Given the description of an element on the screen output the (x, y) to click on. 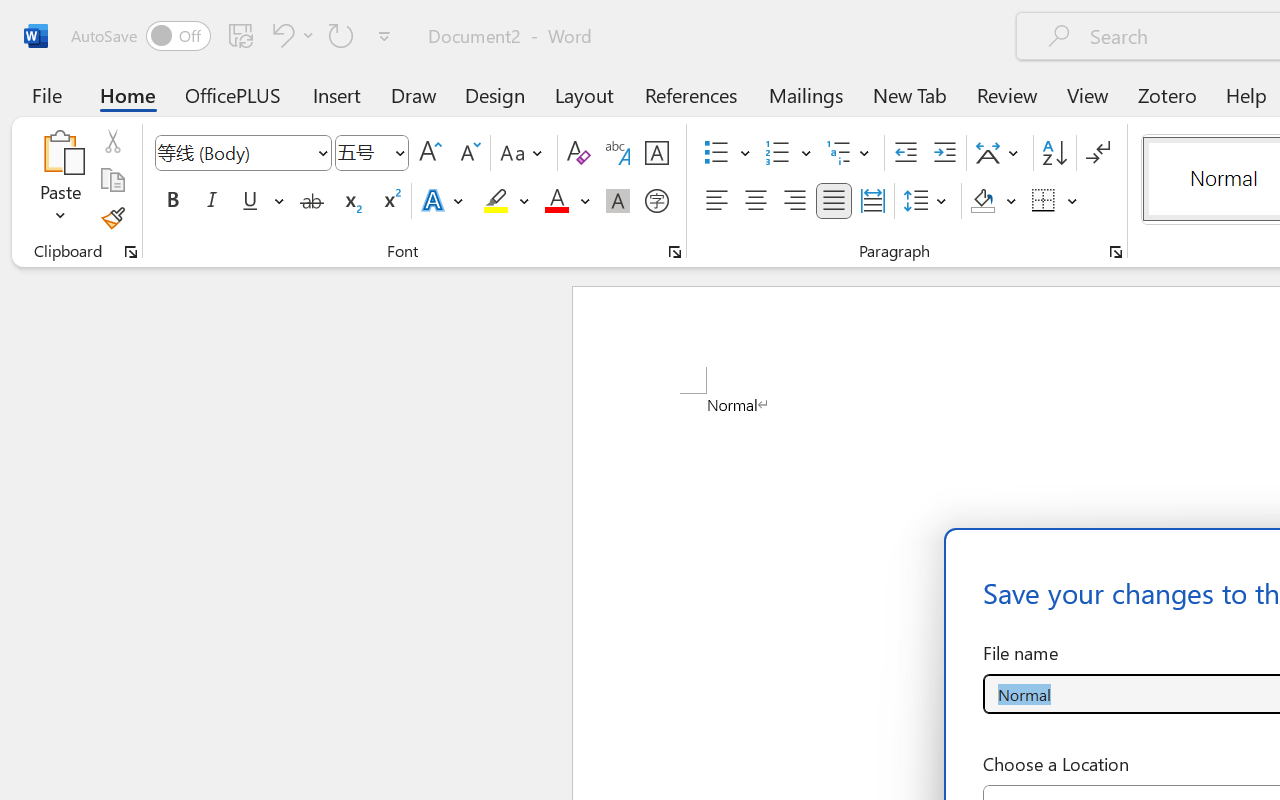
Paste (60, 179)
File Tab (46, 94)
